Given the description of an element on the screen output the (x, y) to click on. 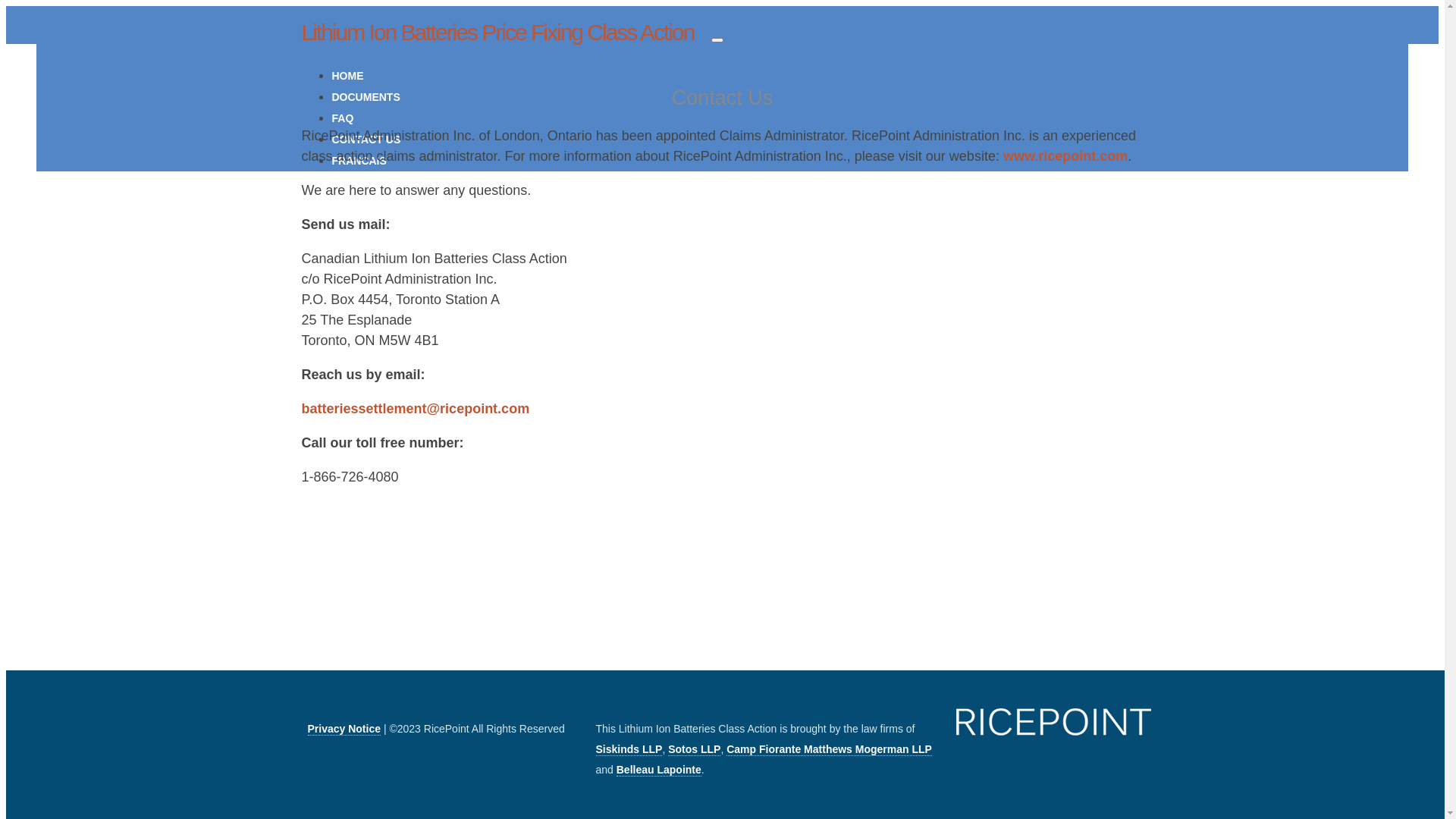
Privacy Notice Element type: text (344, 728)
DOCUMENTS Element type: text (366, 97)
Camp Fiorante Matthews Mogerman LLP Element type: text (828, 749)
www.ricepoint.com Element type: text (1065, 155)
FAQ Element type: text (343, 118)
CONTACT US Element type: text (366, 139)
Belleau Lapointe Element type: text (658, 769)
HOME Element type: text (348, 75)
batteriessettlement@ricepoint.com Element type: text (415, 408)
FRANCAIS Element type: text (359, 160)
Siskinds LLP Element type: text (629, 749)
Lithium Ion Batteries Price Fixing Class Action Element type: text (497, 31)
Sotos LLP Element type: text (694, 749)
